Given the description of an element on the screen output the (x, y) to click on. 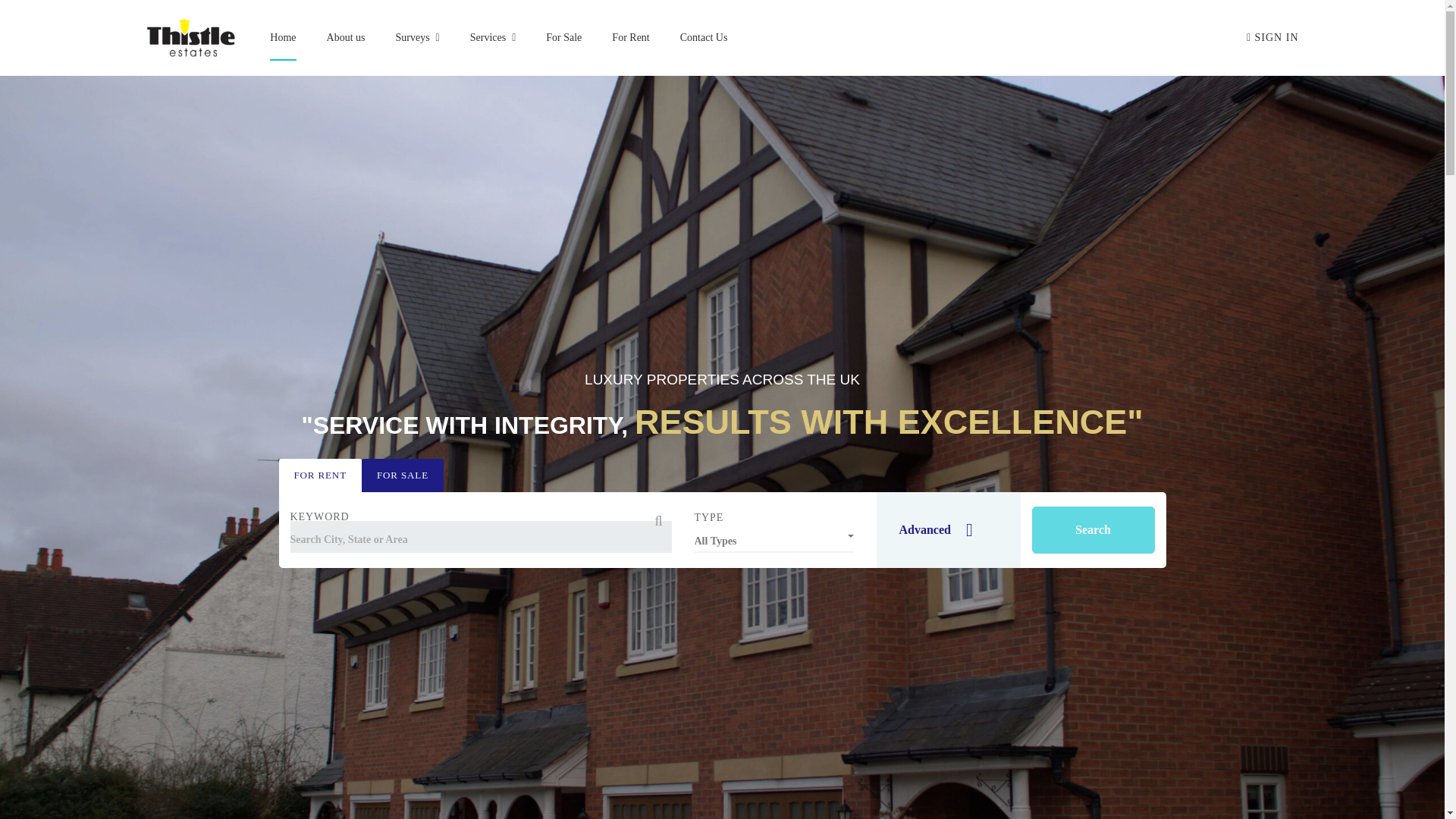
Search (1092, 532)
Advanced (948, 533)
Thistle Estates-Property Sales, Letting and Management (190, 37)
All Types (773, 537)
FOR RENT (320, 482)
SIGN IN (1272, 37)
FOR SALE (402, 482)
Sign in (1272, 37)
All Types (773, 542)
